Given the description of an element on the screen output the (x, y) to click on. 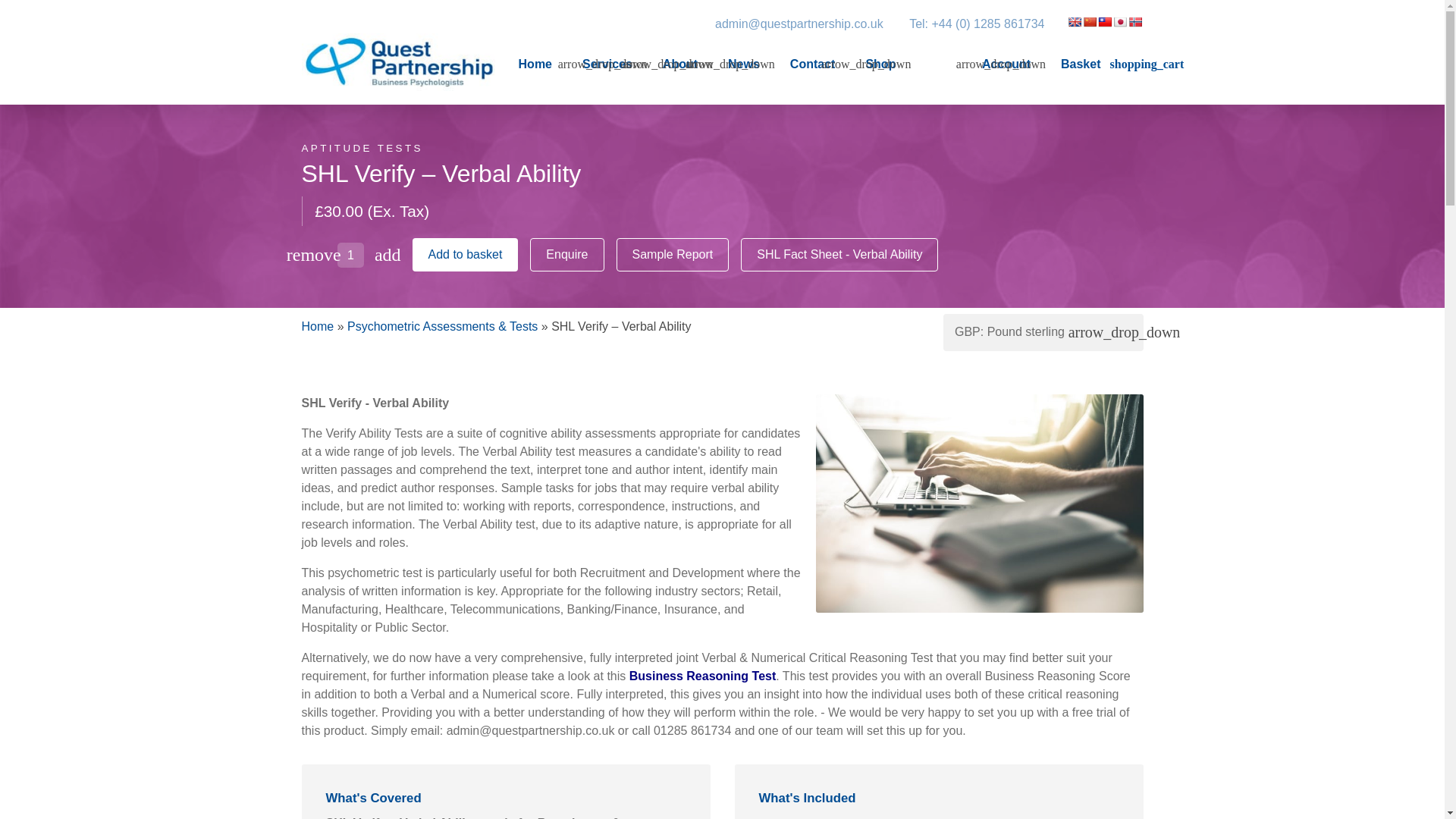
Services (606, 63)
Japanese (1119, 21)
News (744, 63)
Contact (812, 63)
Qty (350, 254)
Norwegian (1134, 21)
About (679, 63)
Shop (879, 63)
English (1074, 21)
Home (534, 63)
1 (350, 254)
